Given the description of an element on the screen output the (x, y) to click on. 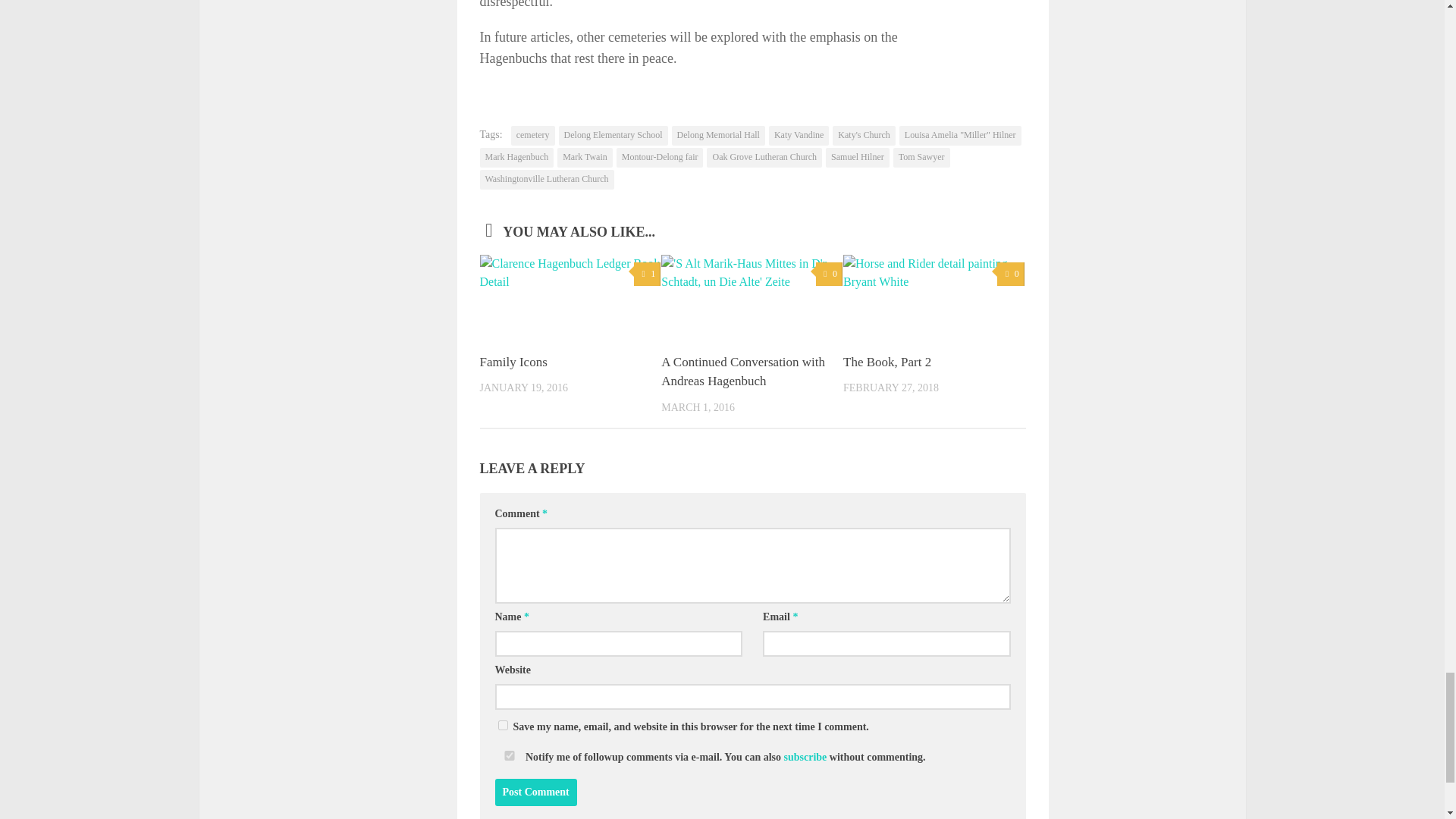
cemetery (532, 135)
Katy's Church (863, 135)
Washingtonville Lutheran Church (545, 179)
Tom Sawyer (921, 157)
yes (508, 755)
Mark Hagenbuch (516, 157)
Katy Vandine (798, 135)
Family Icons (513, 361)
A Continued Conversation with Andreas Hagenbuch (743, 371)
yes (501, 725)
Delong Elementary School (613, 135)
Mark Twain (584, 157)
0 (1010, 273)
Samuel Hilner (857, 157)
Post Comment (535, 791)
